Given the description of an element on the screen output the (x, y) to click on. 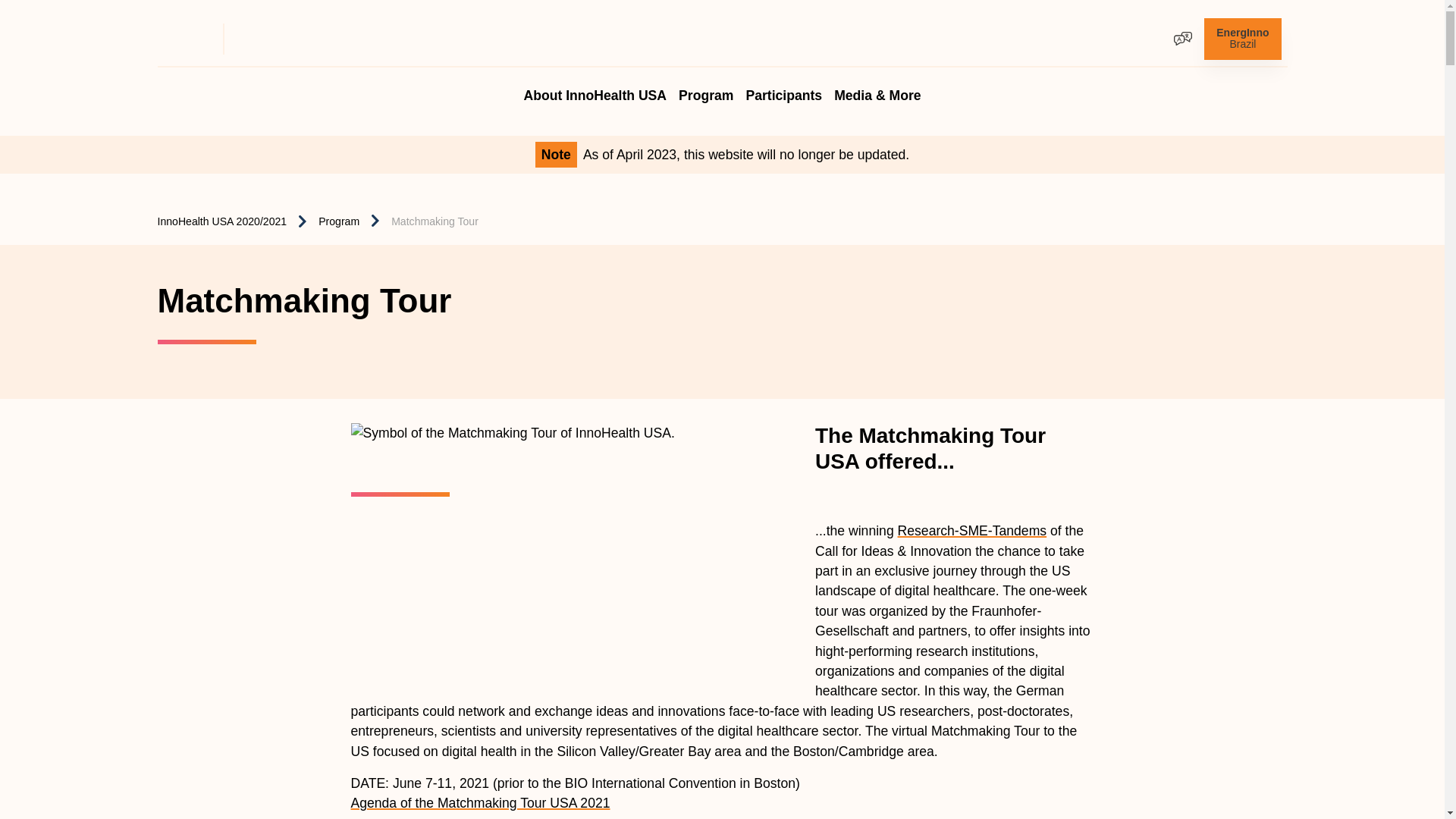
EnergInno (1242, 38)
Participants (783, 86)
Program (1242, 38)
About InnoHealth USA (705, 86)
Program (594, 86)
Participants (705, 86)
About InnoHealth USA (783, 86)
